Given the description of an element on the screen output the (x, y) to click on. 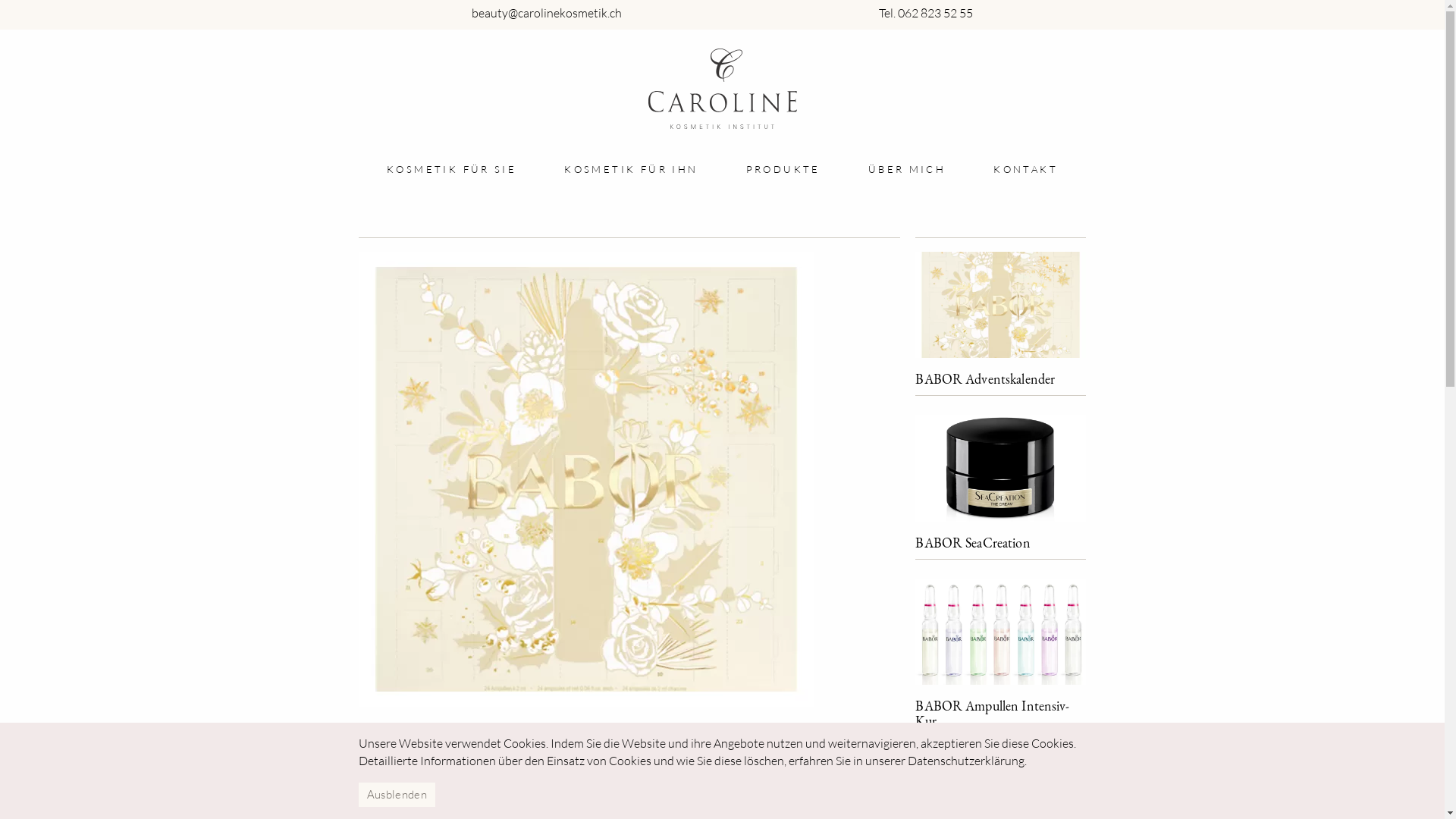
Caroline Kosmetik institut Element type: hover (721, 88)
Den Artikel lesen: Camouflage Abdeckung von MALU WILZ Element type: hover (1000, 807)
Den Artikel lesen: BABOR Adventskalender Element type: hover (1000, 302)
BABOR Adventskalender Element type: text (984, 378)
Ausblenden Element type: text (395, 794)
AKTUELL Element type: text (463, 171)
STARTSEITE Element type: text (390, 171)
KONTAKT Element type: text (1025, 169)
beauty@carolinekosmetik.ch Element type: text (546, 12)
BABOR Ampullen Intensiv-Kur Element type: text (992, 712)
Den Artikel lesen: BABOR Ampullen Intensiv-Kur Element type: hover (1000, 629)
BABOR SeaCreation Element type: text (972, 542)
Den Artikel lesen: BABOR SeaCreation Element type: hover (1000, 465)
Tel. 062 823 52 55 Element type: text (925, 12)
PRODUKTE Element type: text (783, 169)
